Given the description of an element on the screen output the (x, y) to click on. 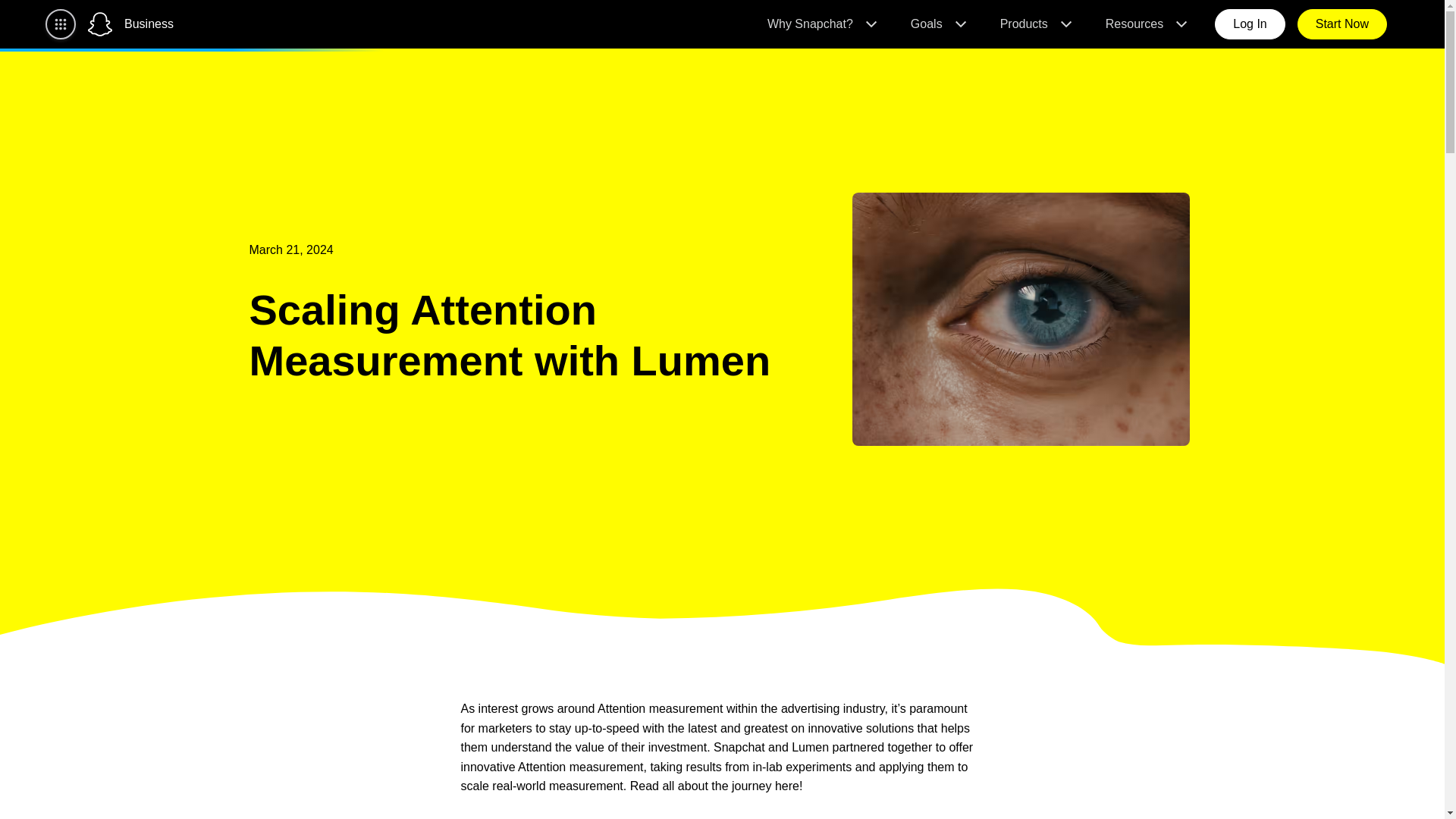
Start Now (1342, 24)
Business (148, 24)
Why Snapchat? (820, 24)
Log In (1249, 24)
Goals (936, 24)
Resources (1145, 24)
Products (1034, 24)
